Given the description of an element on the screen output the (x, y) to click on. 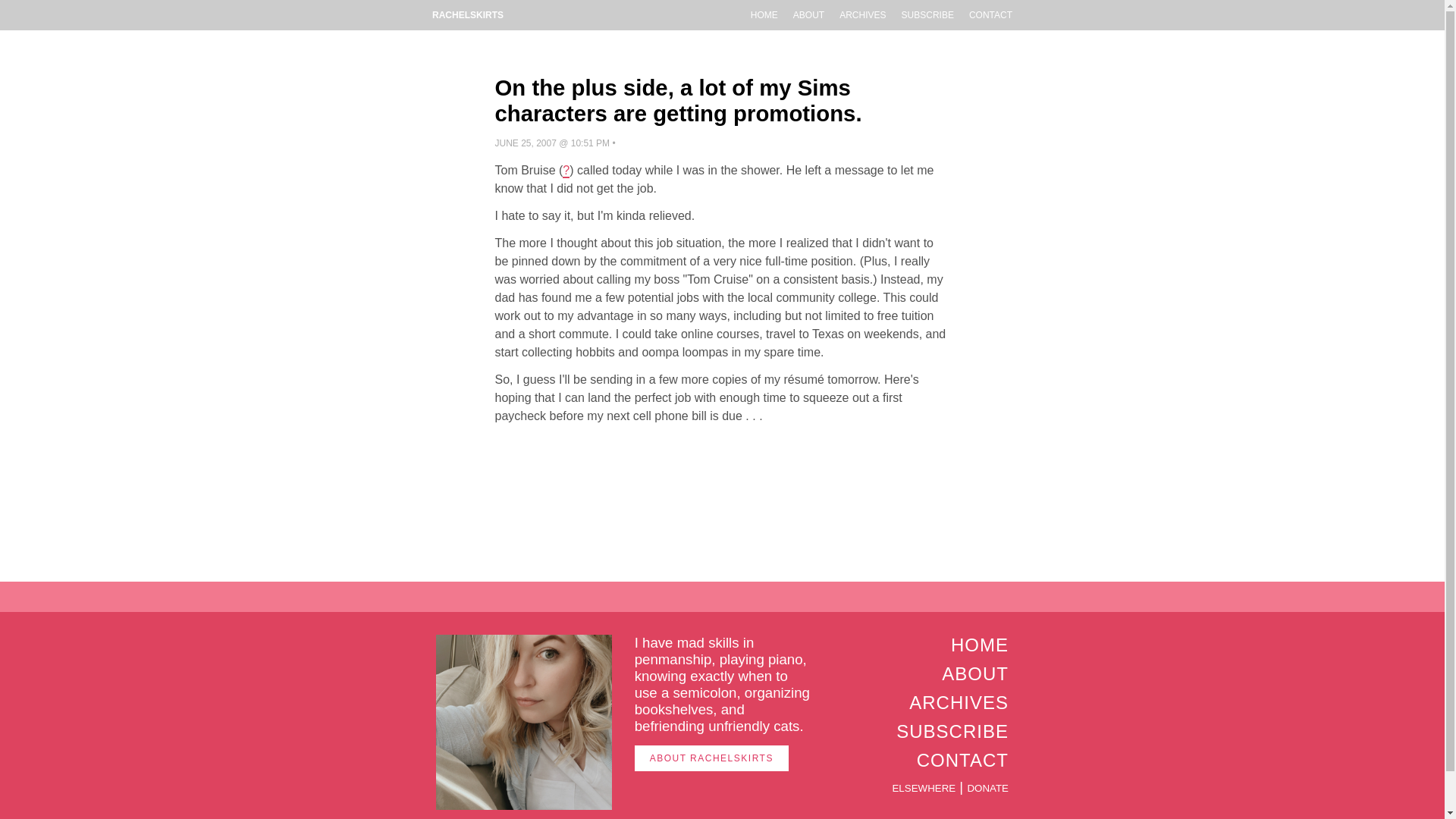
CONTACT (963, 760)
RACHELSKIRTS (468, 15)
ARCHIVES (862, 15)
ABOUT (808, 15)
DONATE (987, 787)
SUBSCRIBE (952, 731)
CONTACT (990, 15)
HOME (979, 644)
SUBSCRIBE (926, 15)
HOME (764, 15)
